Given the description of an element on the screen output the (x, y) to click on. 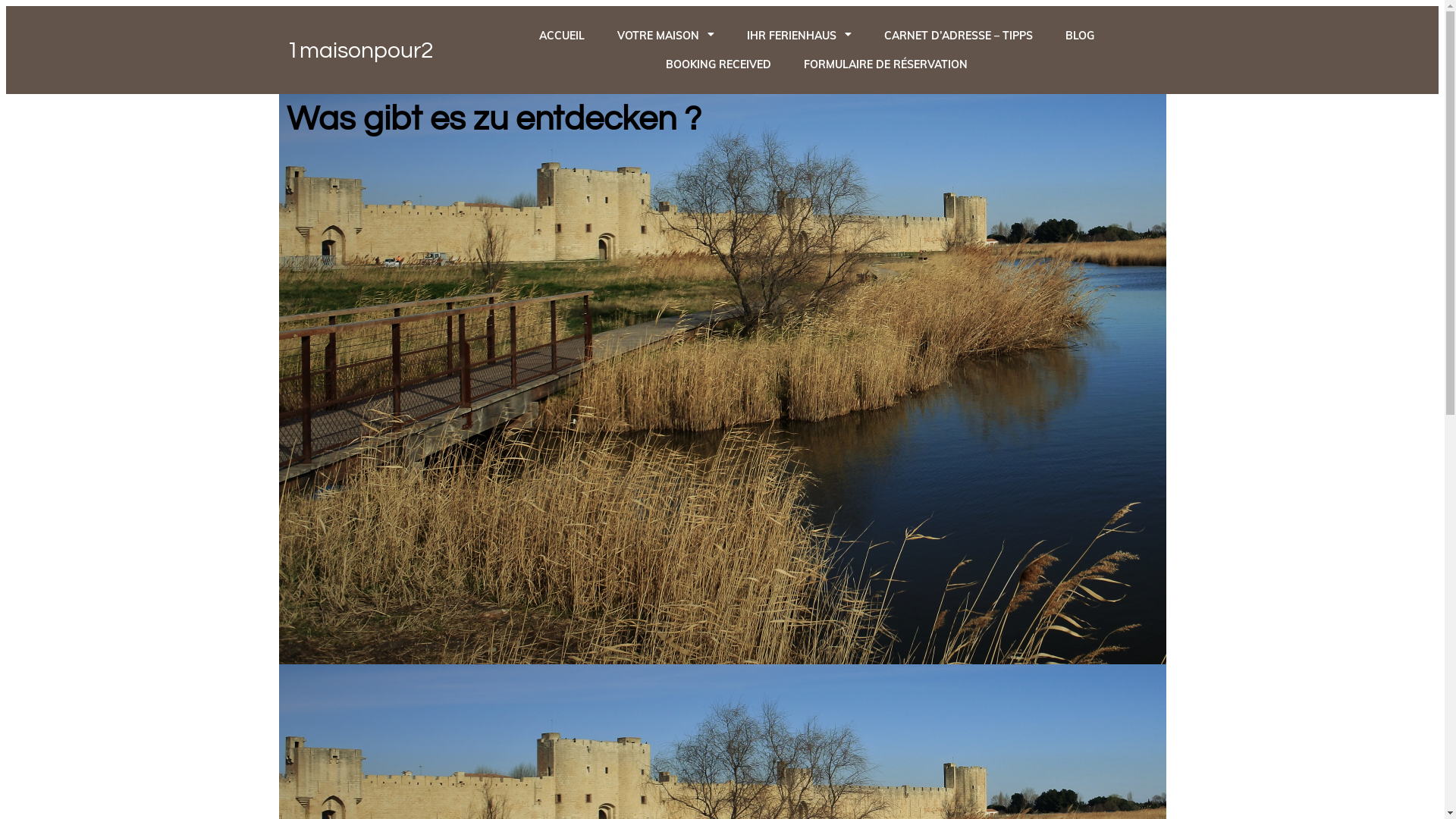
ACCUEIL Element type: text (561, 35)
BLOG Element type: text (1079, 35)
1maisonpour2 Element type: text (373, 49)
VOTRE MAISON Element type: text (665, 35)
BOOKING RECEIVED Element type: text (718, 64)
IHR FERIENHAUS Element type: text (798, 35)
